Given the description of an element on the screen output the (x, y) to click on. 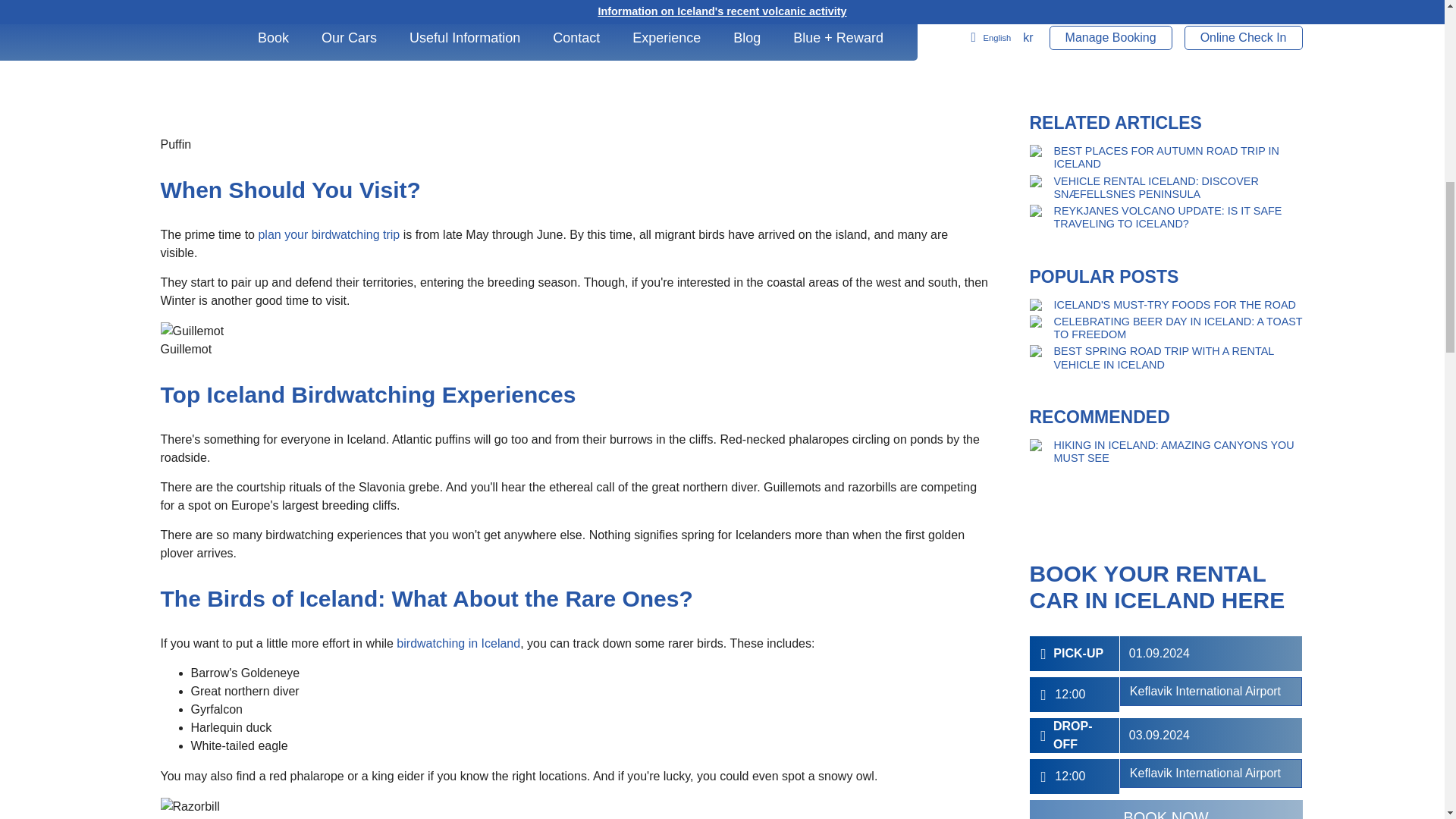
01.09.2024 (1211, 79)
Razorbill (189, 806)
03.09.2024 (1211, 161)
12:00 (1086, 120)
12:00 (1086, 202)
Puffin (540, 67)
Guillemot (192, 331)
